Given the description of an element on the screen output the (x, y) to click on. 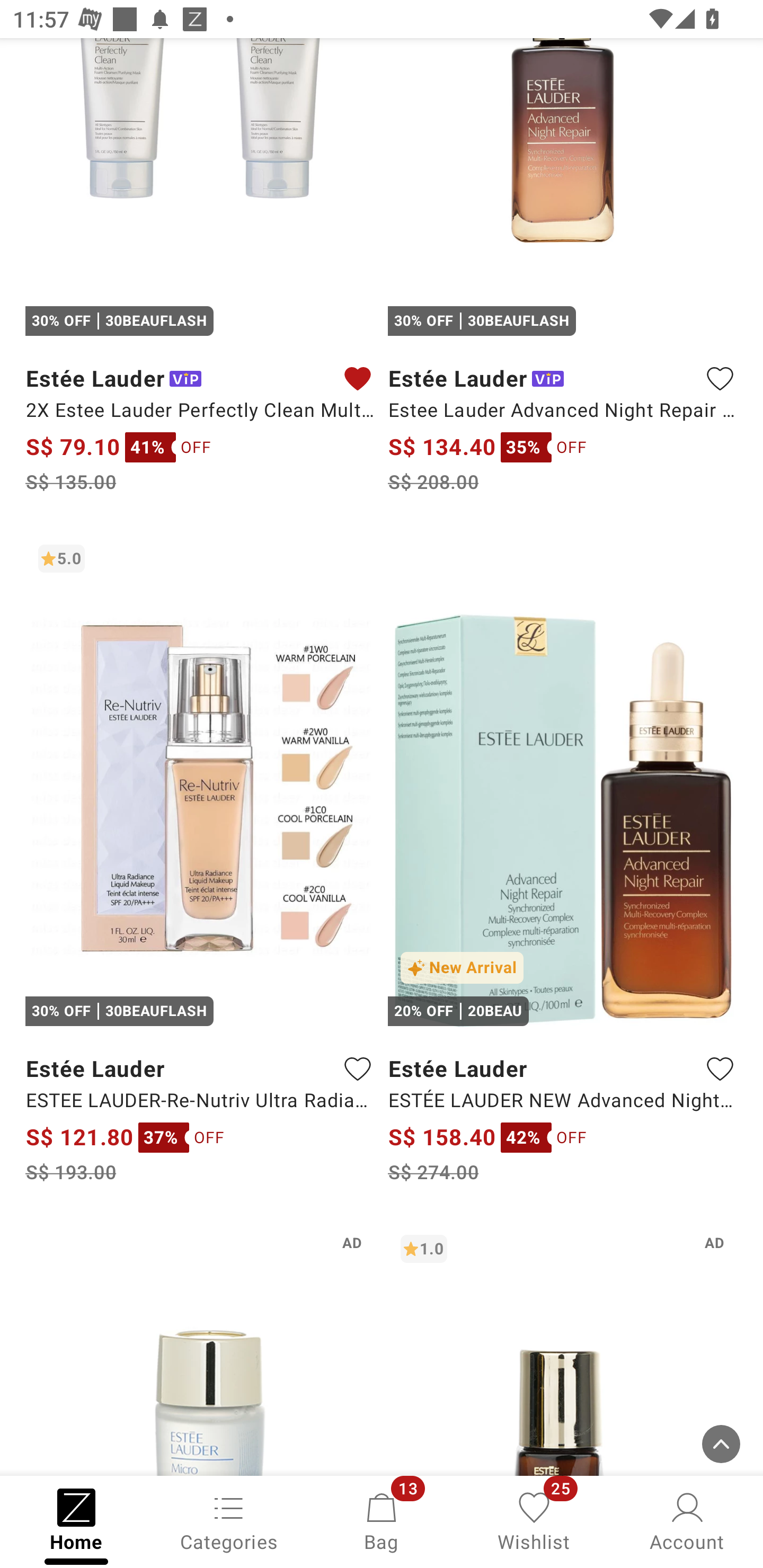
Categories (228, 1519)
Bag, 13 new notifications Bag (381, 1519)
Wishlist, 25 new notifications Wishlist (533, 1519)
Account (686, 1519)
